Given the description of an element on the screen output the (x, y) to click on. 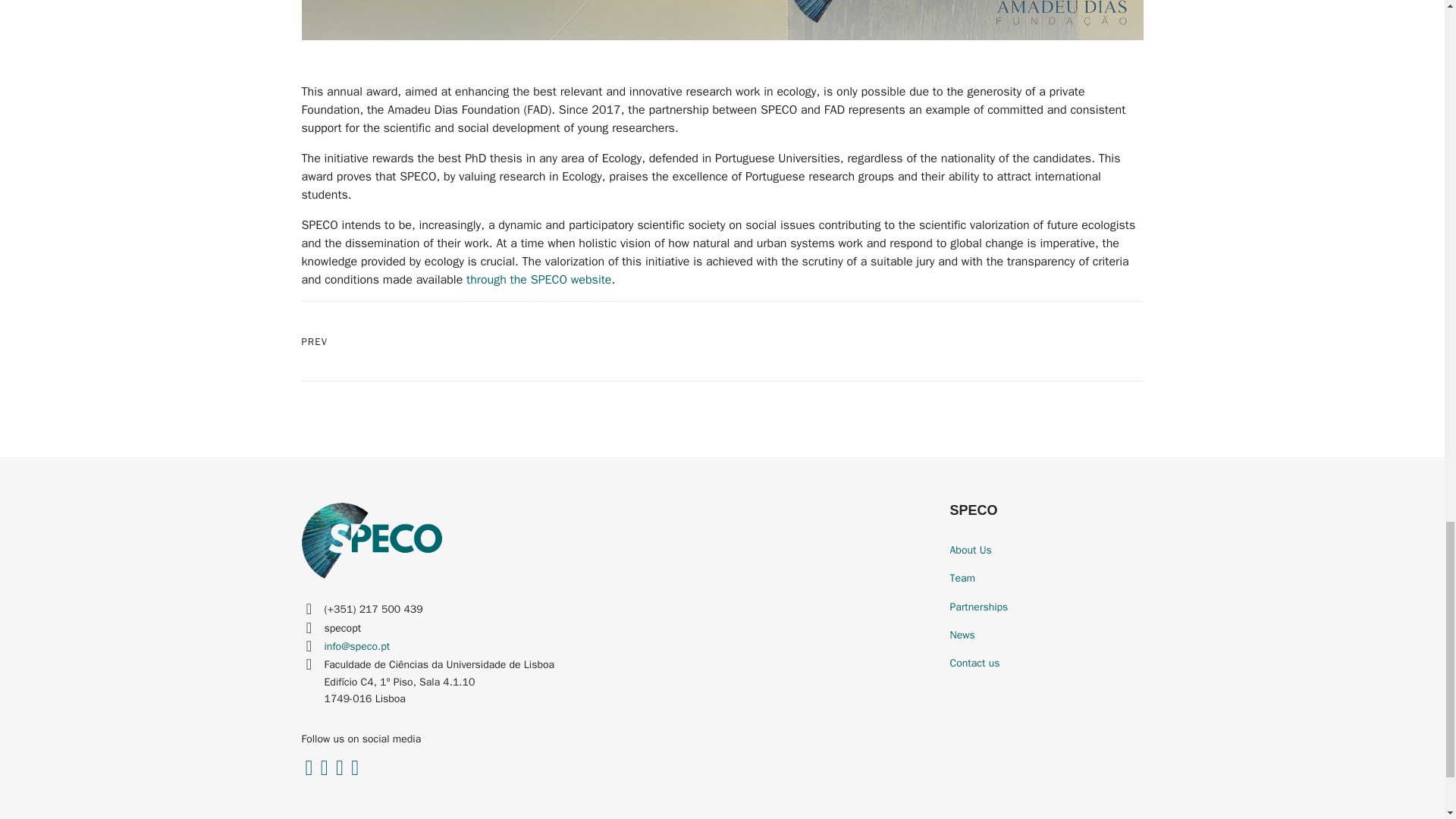
through the SPECO website (538, 279)
Team (1045, 578)
News (1045, 635)
About Us (1045, 550)
Partnerships (1045, 606)
PREV (315, 341)
Contact us (1045, 663)
